Given the description of an element on the screen output the (x, y) to click on. 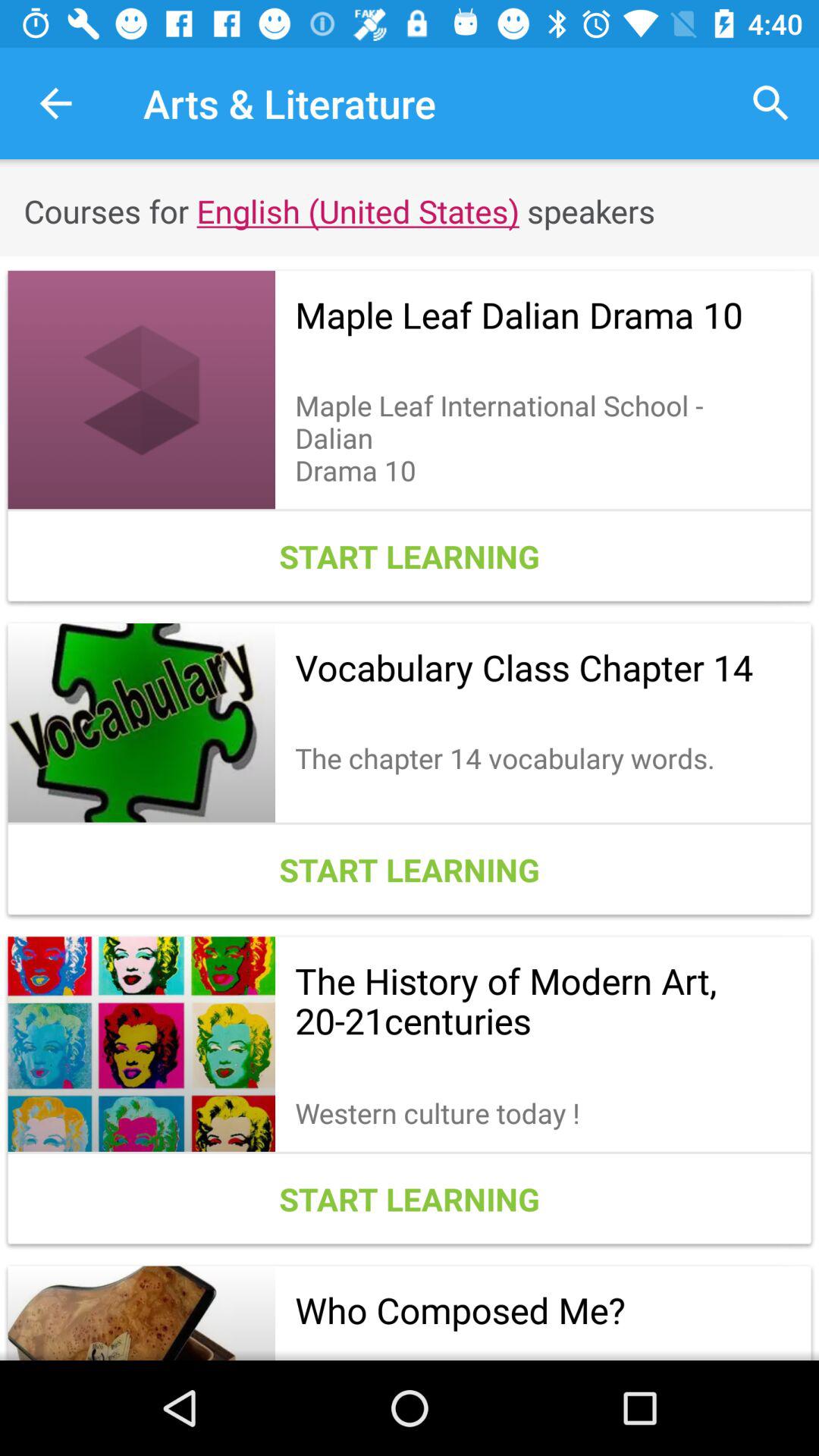
choose the item next to the arts & literature item (771, 103)
